Given the description of an element on the screen output the (x, y) to click on. 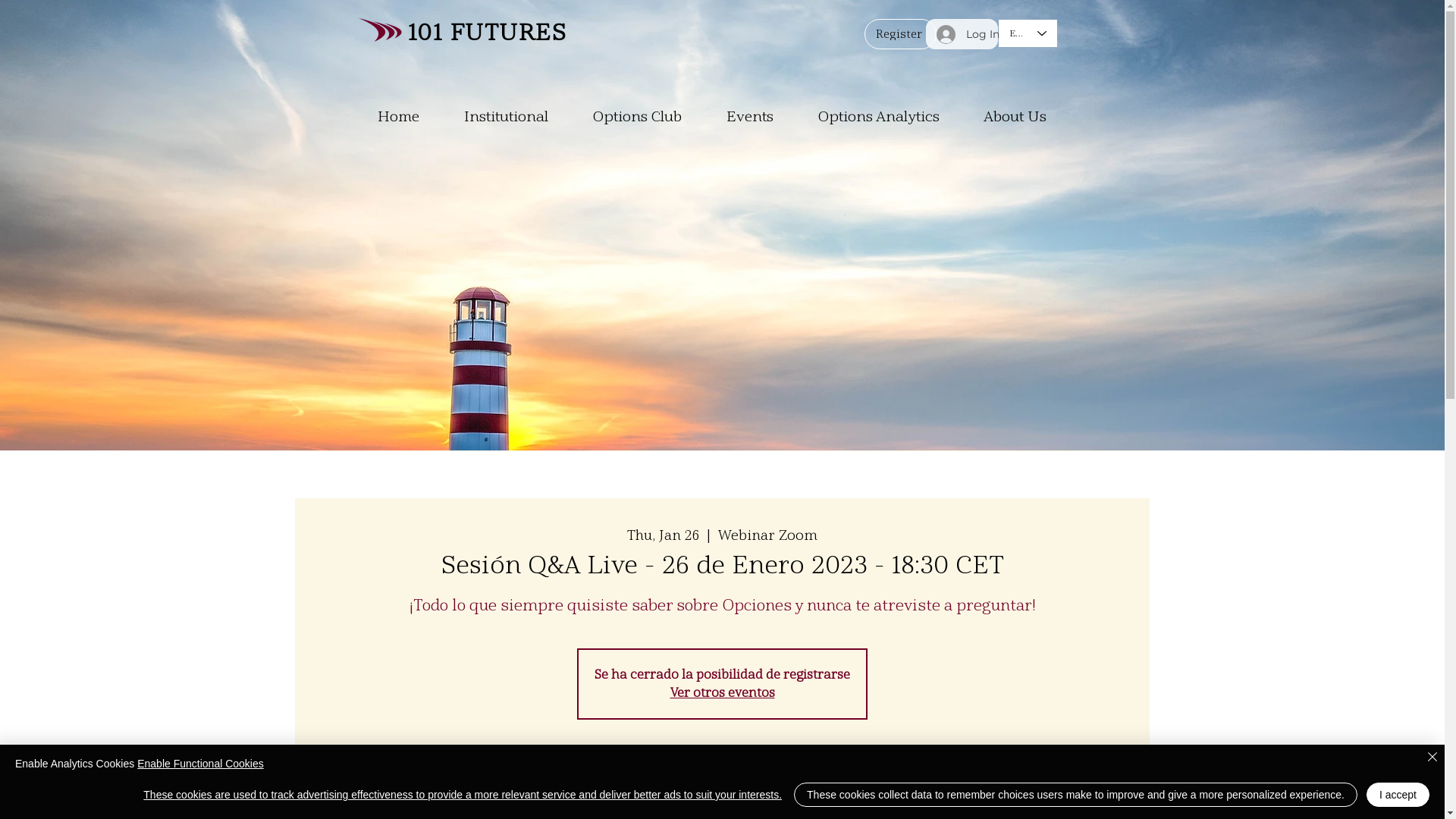
101 FUTURES Element type: text (487, 31)
Ver otros eventos Element type: text (722, 692)
Options Club Element type: text (647, 116)
I accept Element type: text (1397, 794)
Home Element type: text (408, 116)
Enable Functional Cookies Element type: text (200, 763)
Institutional Element type: text (515, 116)
Log In Element type: text (961, 33)
Events Element type: text (760, 116)
TWIPLA (Visitor Analytics) Element type: hover (1330, 58)
Register Element type: text (900, 33)
logotipo_AdG_2-removebg-preview_edited.p Element type: hover (378, 29)
About Us Element type: text (1025, 116)
Options Analytics Element type: text (889, 116)
